Given the description of an element on the screen output the (x, y) to click on. 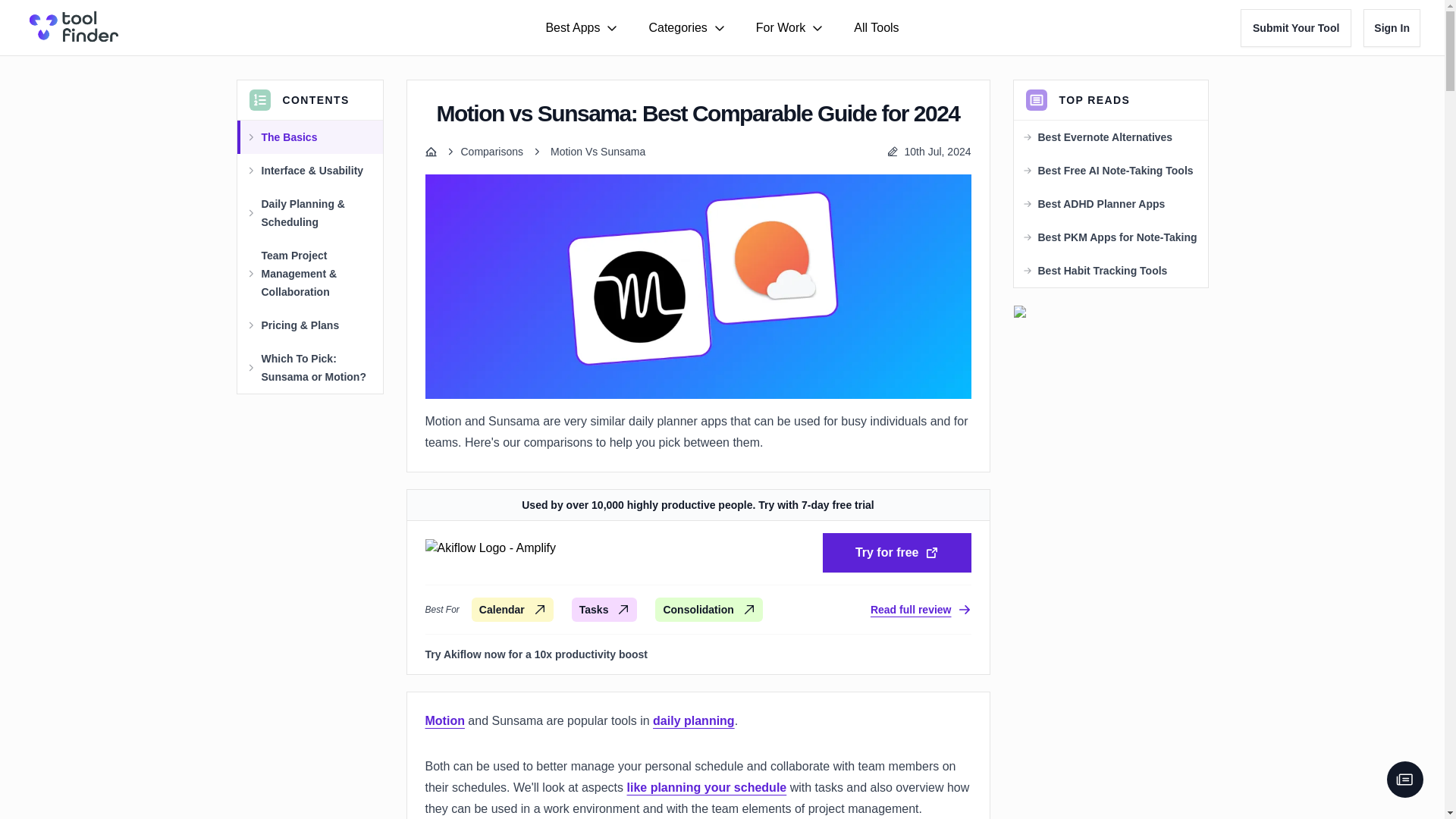
Best PKM Apps for Note-Taking (1116, 237)
Consolidation (708, 609)
Best Evernote Alternatives (1104, 136)
Categories (686, 27)
like planning your schedule (707, 787)
All Tools (875, 27)
Best Free AI Note-Taking Tools (1114, 170)
Best Habit Tracking Tools (1101, 270)
Best ADHD Planner Apps (1100, 203)
Comparisons (491, 151)
